Given the description of an element on the screen output the (x, y) to click on. 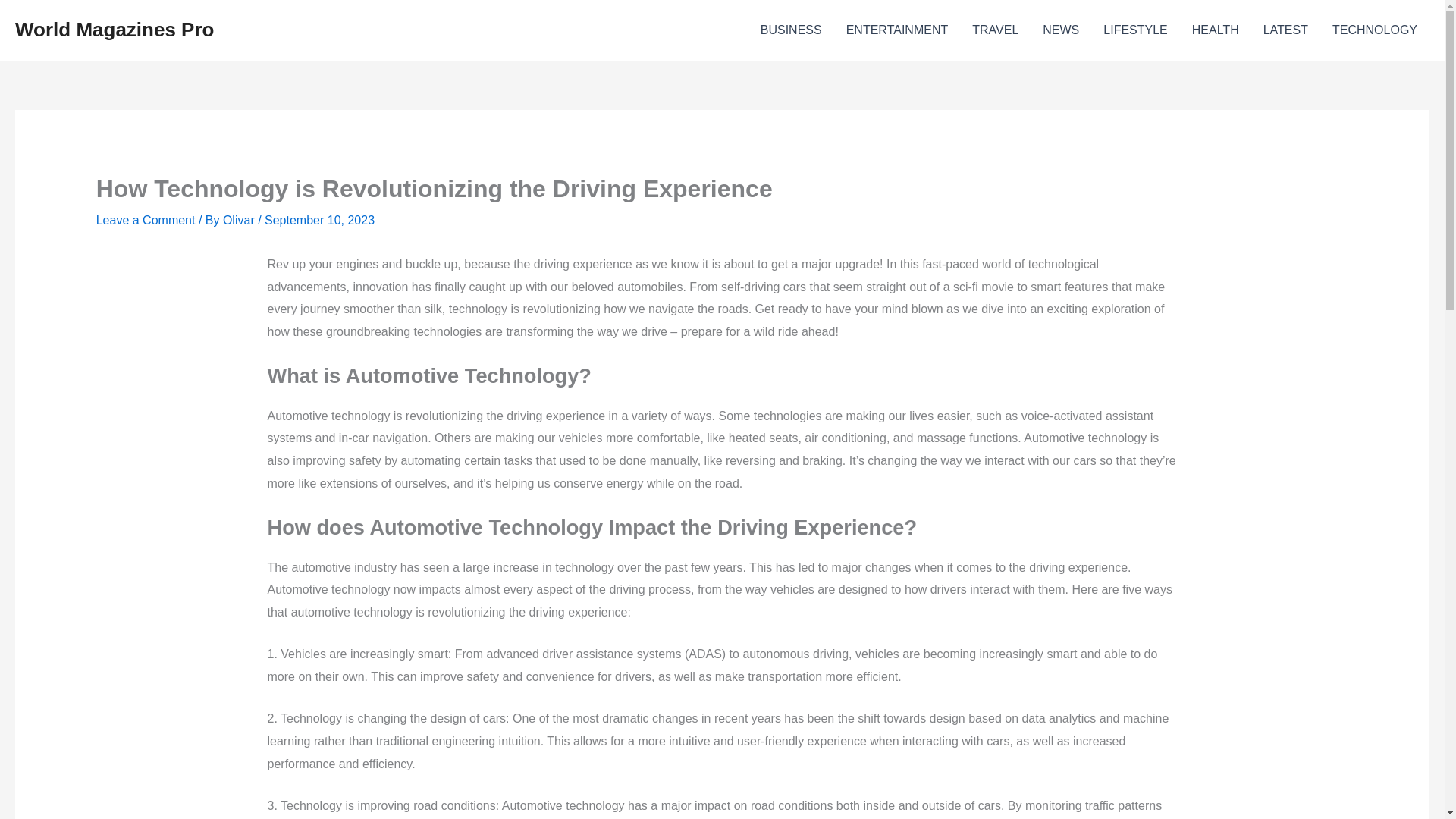
BUSINESS (791, 30)
HEALTH (1214, 30)
Olivar (239, 219)
TECHNOLOGY (1374, 30)
NEWS (1060, 30)
ENTERTAINMENT (897, 30)
LATEST (1285, 30)
Leave a Comment (145, 219)
TRAVEL (994, 30)
LIFESTYLE (1134, 30)
